Given the description of an element on the screen output the (x, y) to click on. 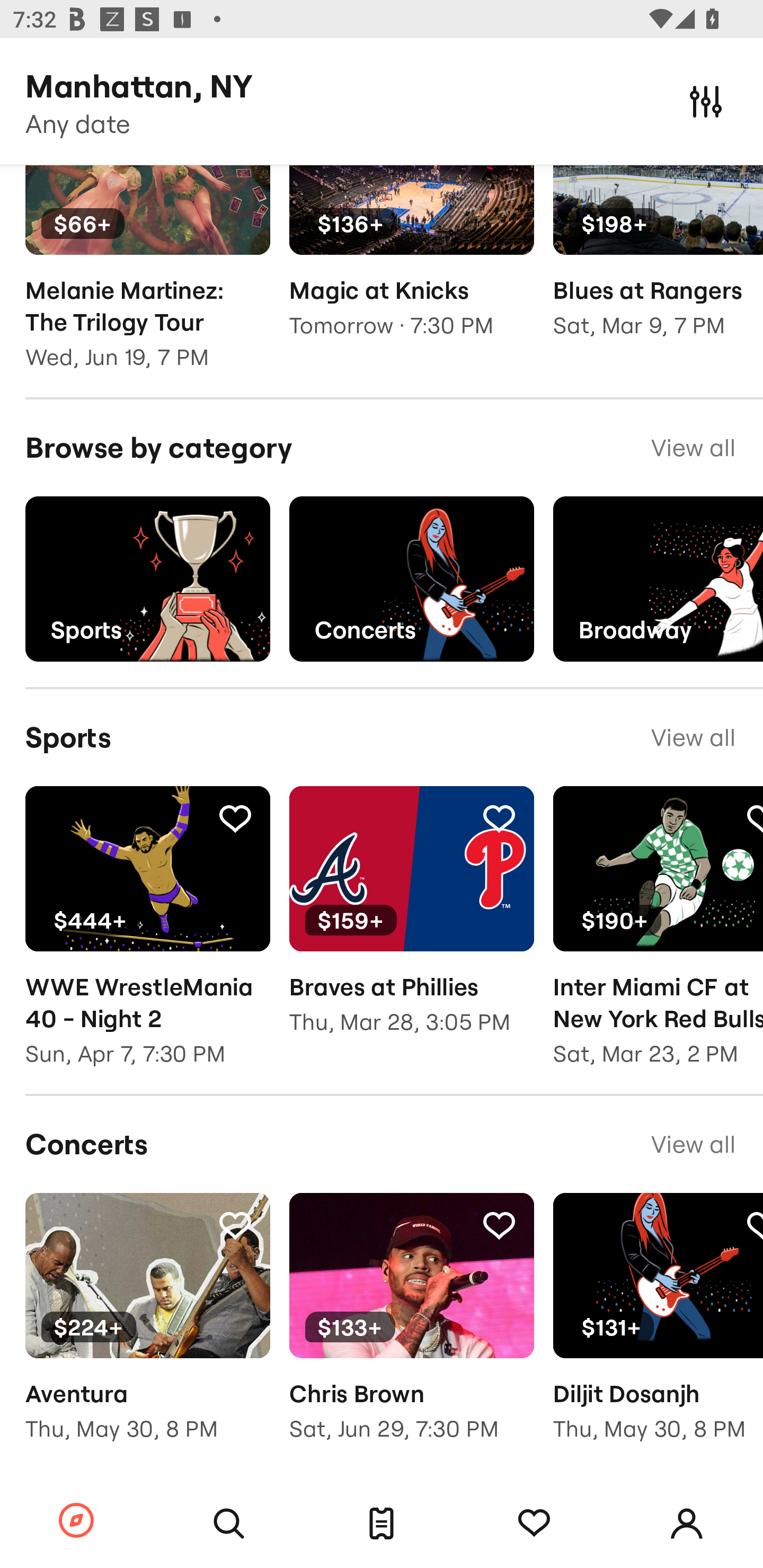
Close (705, 100)
$136+ Magic at Knicks Tomorrow · 7:30 PM (411, 263)
$198+ Blues at Rangers Sat, Mar 9, 7 PM (658, 263)
View all (693, 448)
Sports (147, 579)
Concerts (411, 579)
Broadway (658, 579)
View all (693, 737)
Tracking (234, 817)
Tracking (498, 817)
View all (693, 1144)
Tracking $224+ Aventura Thu, May 30, 8 PM (147, 1330)
Tracking $133+ Chris Brown Sat, Jun 29, 7:30 PM (411, 1330)
Tracking $131+ Diljit Dosanjh Thu, May 30, 8 PM (658, 1330)
Tracking (234, 1224)
Tracking (498, 1224)
Browse (76, 1521)
Search (228, 1523)
Tickets (381, 1523)
Tracking (533, 1523)
Account (686, 1523)
